Given the description of an element on the screen output the (x, y) to click on. 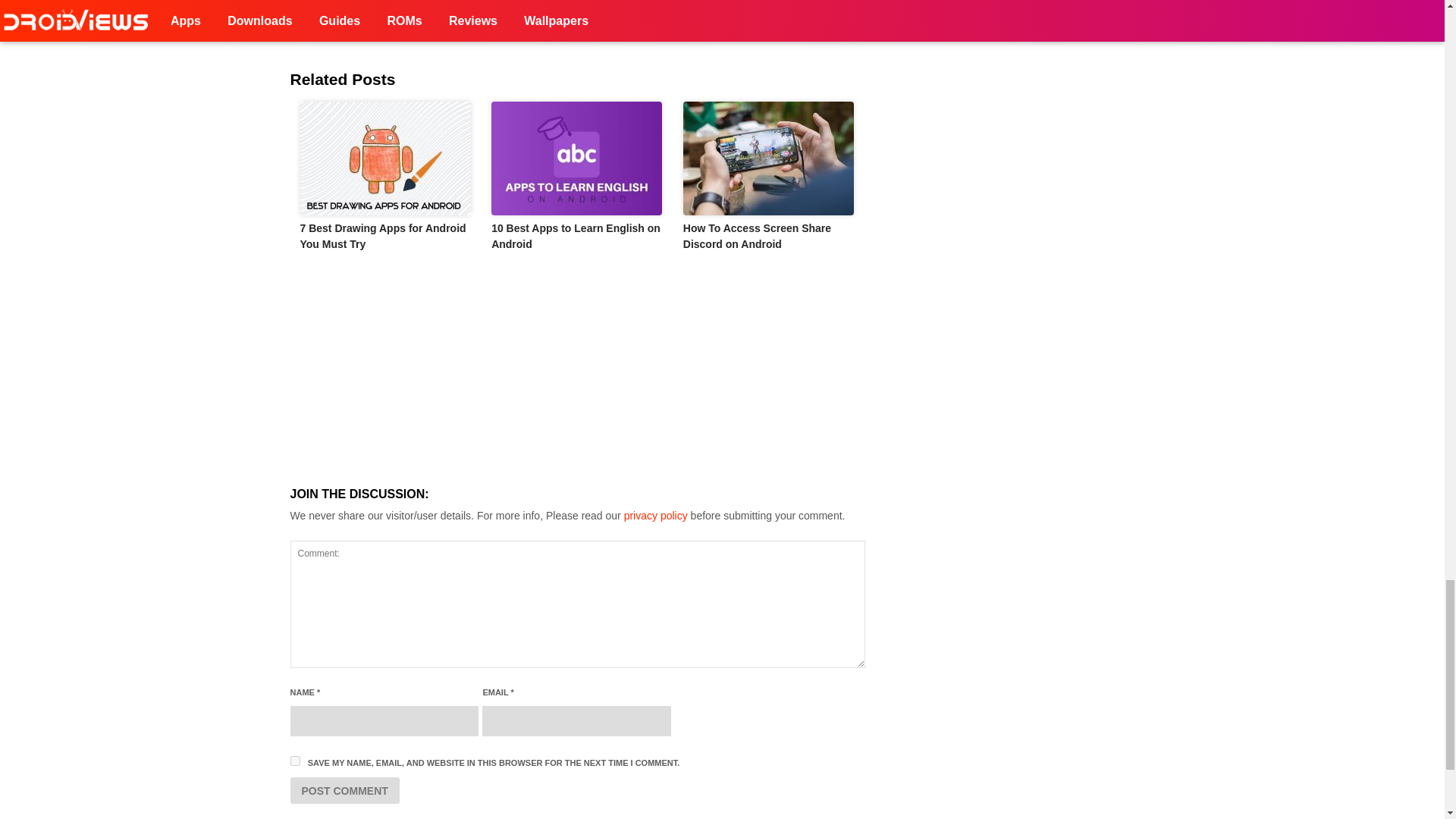
privacy policy (655, 515)
7 Best Drawing Apps for Android You Must Try (385, 158)
7 Best Drawing Apps for Android You Must Try (382, 235)
10 Best Apps to Learn English on Android (577, 158)
Post Comment (343, 790)
Post Comment (343, 790)
How To Access Screen Share Discord on Android (769, 158)
comment-policy-title (655, 515)
How To Access Screen Share Discord on Android (756, 235)
yes (294, 760)
